Given the description of an element on the screen output the (x, y) to click on. 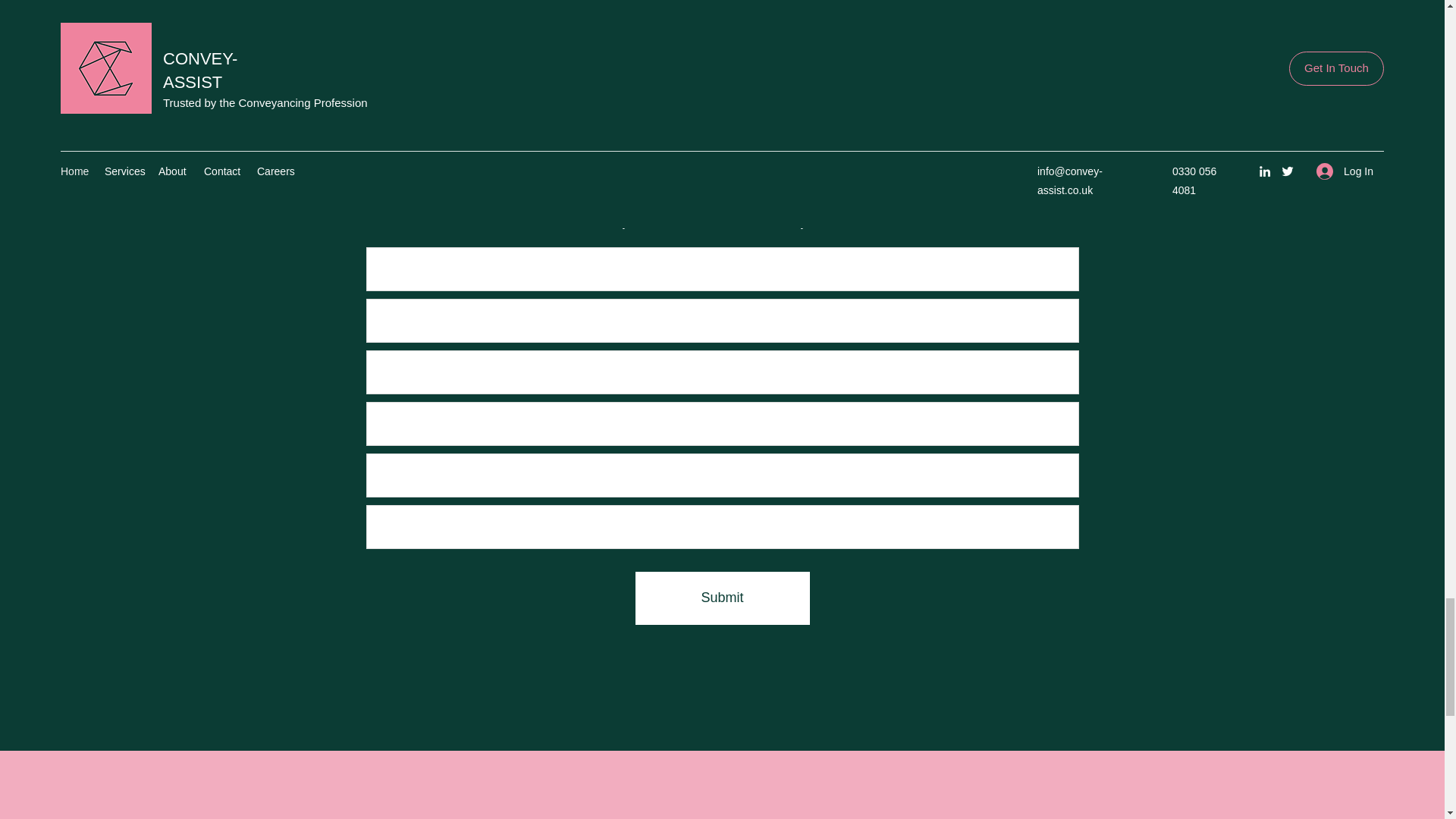
Submit (721, 597)
